Given the description of an element on the screen output the (x, y) to click on. 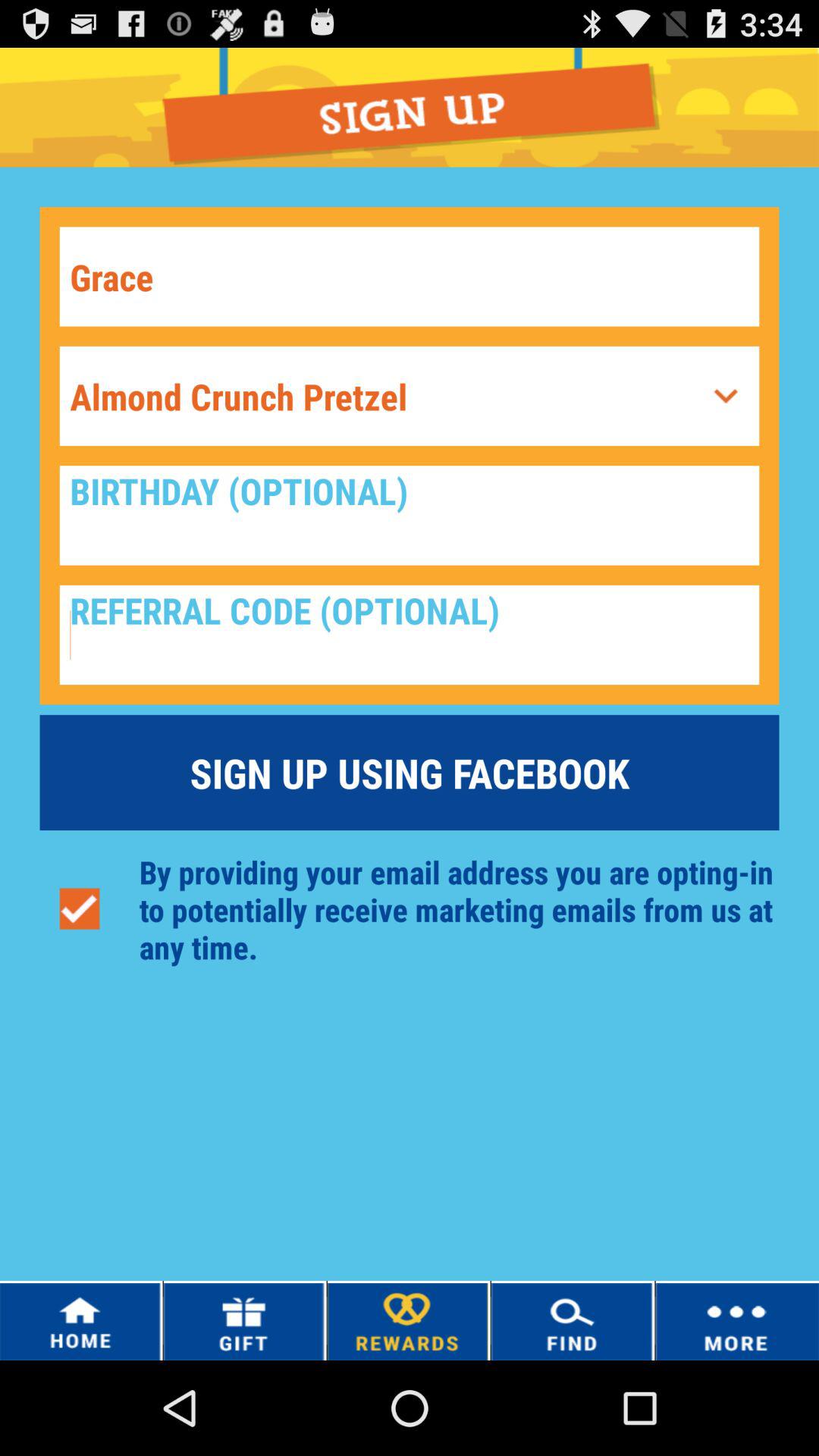
access drop down menu (725, 395)
